Given the description of an element on the screen output the (x, y) to click on. 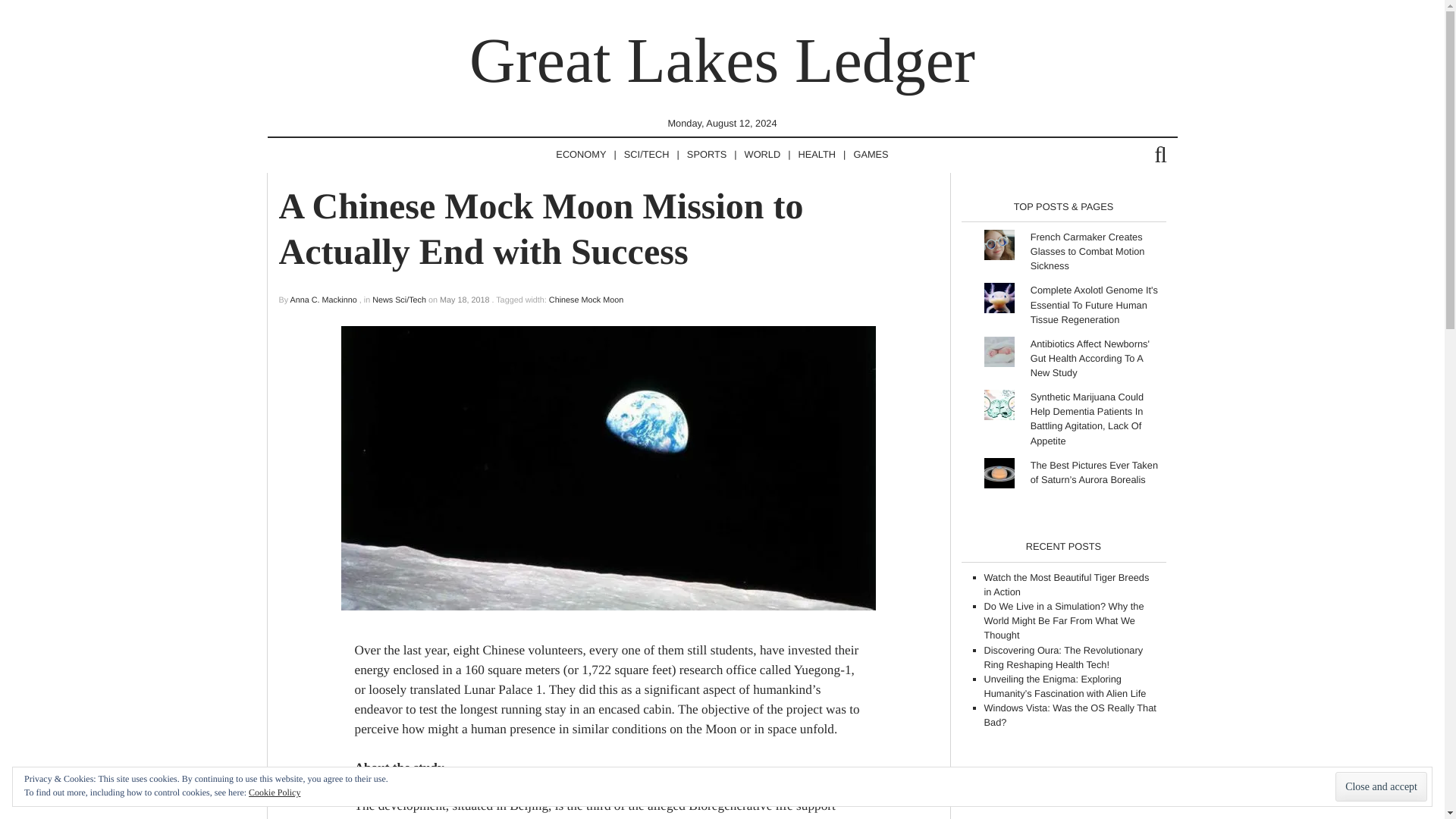
Anna C. Mackinno (322, 299)
News (382, 299)
ECONOMY (580, 154)
French Carmaker Creates Glasses to Combat Motion Sickness (1087, 250)
Close and accept (1380, 786)
GAMES (870, 154)
HEALTH (817, 154)
